Given the description of an element on the screen output the (x, y) to click on. 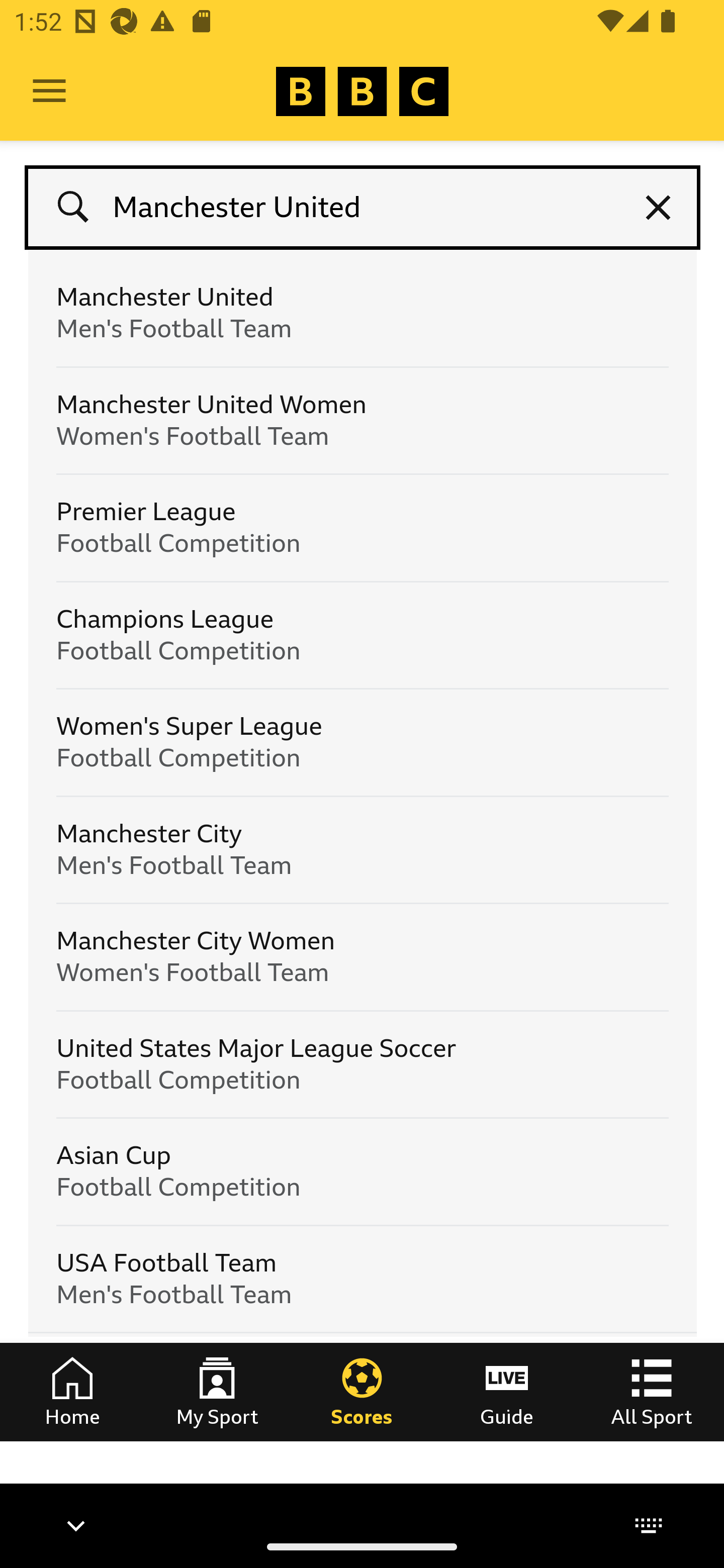
Open Menu (49, 91)
Manchester United (363, 208)
Clear (658, 208)
Home (72, 1391)
My Sport (216, 1391)
Guide (506, 1391)
All Sport (651, 1391)
